Given the description of an element on the screen output the (x, y) to click on. 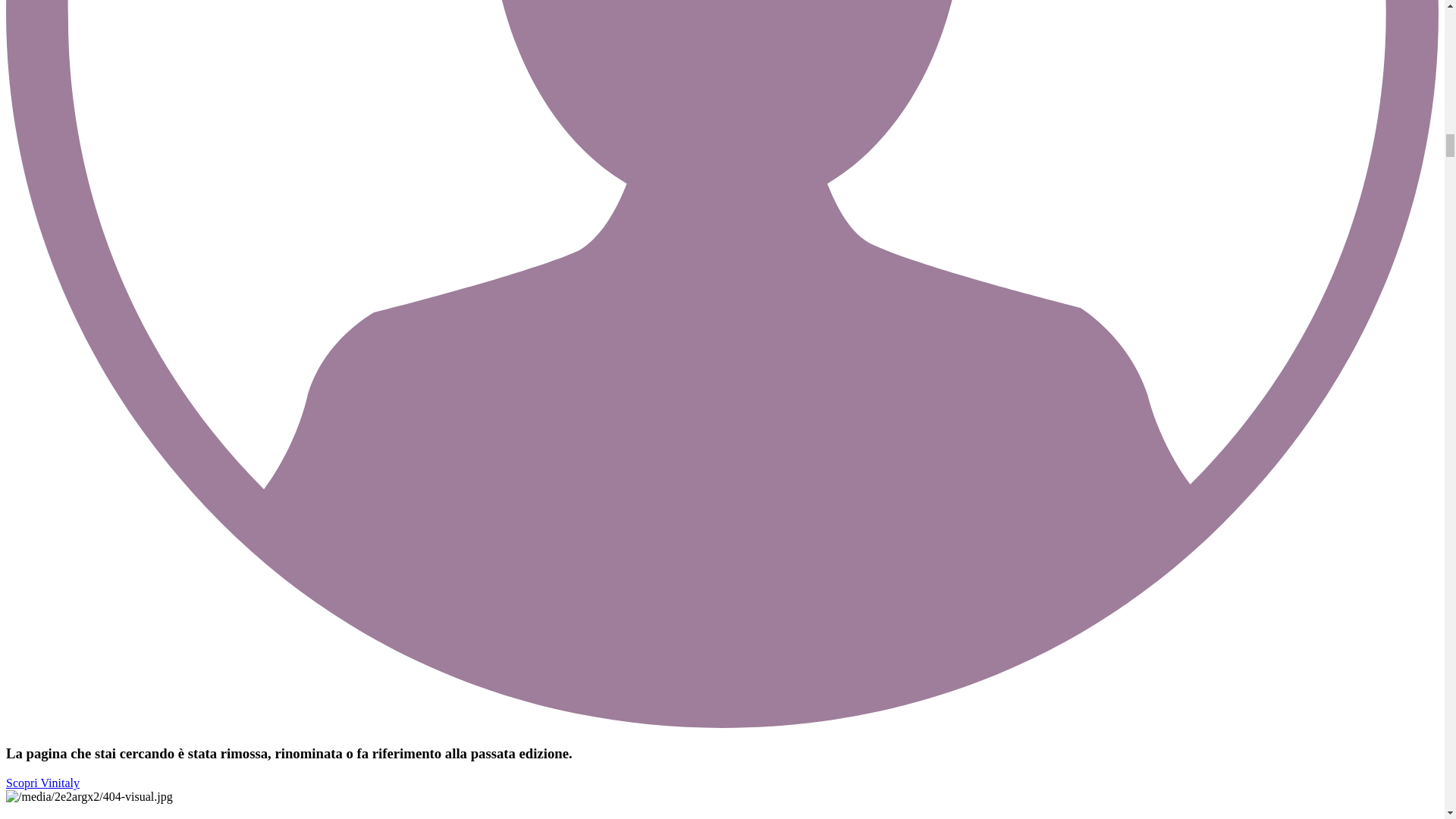
Scopri Vinitaly (42, 782)
Scopri Vinitaly (42, 782)
